Given the description of an element on the screen output the (x, y) to click on. 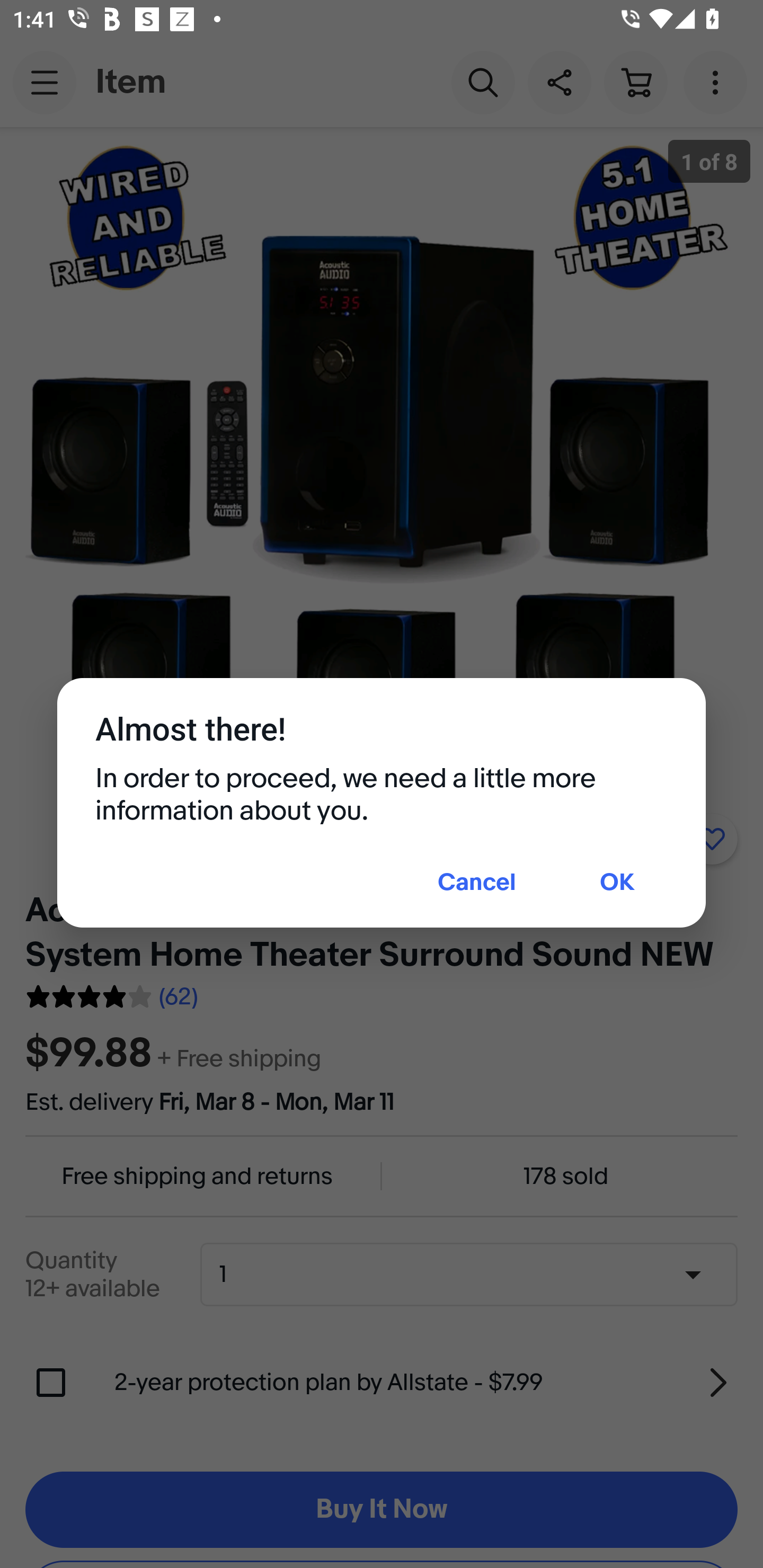
Cancel (476, 883)
OK (616, 883)
